Given the description of an element on the screen output the (x, y) to click on. 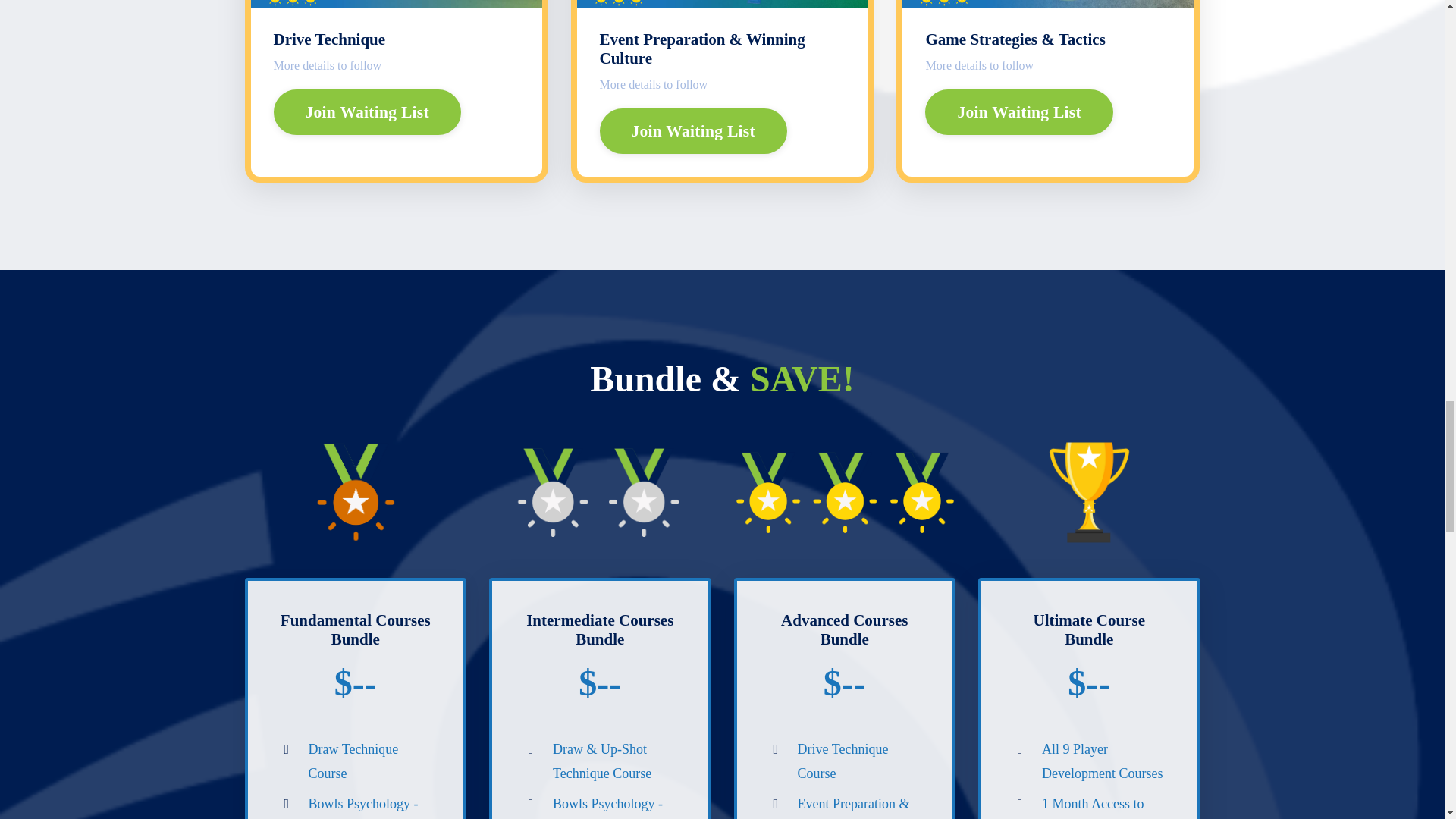
Join Waiting List (692, 130)
Join Waiting List (1018, 112)
Join Waiting List (367, 112)
